Given the description of an element on the screen output the (x, y) to click on. 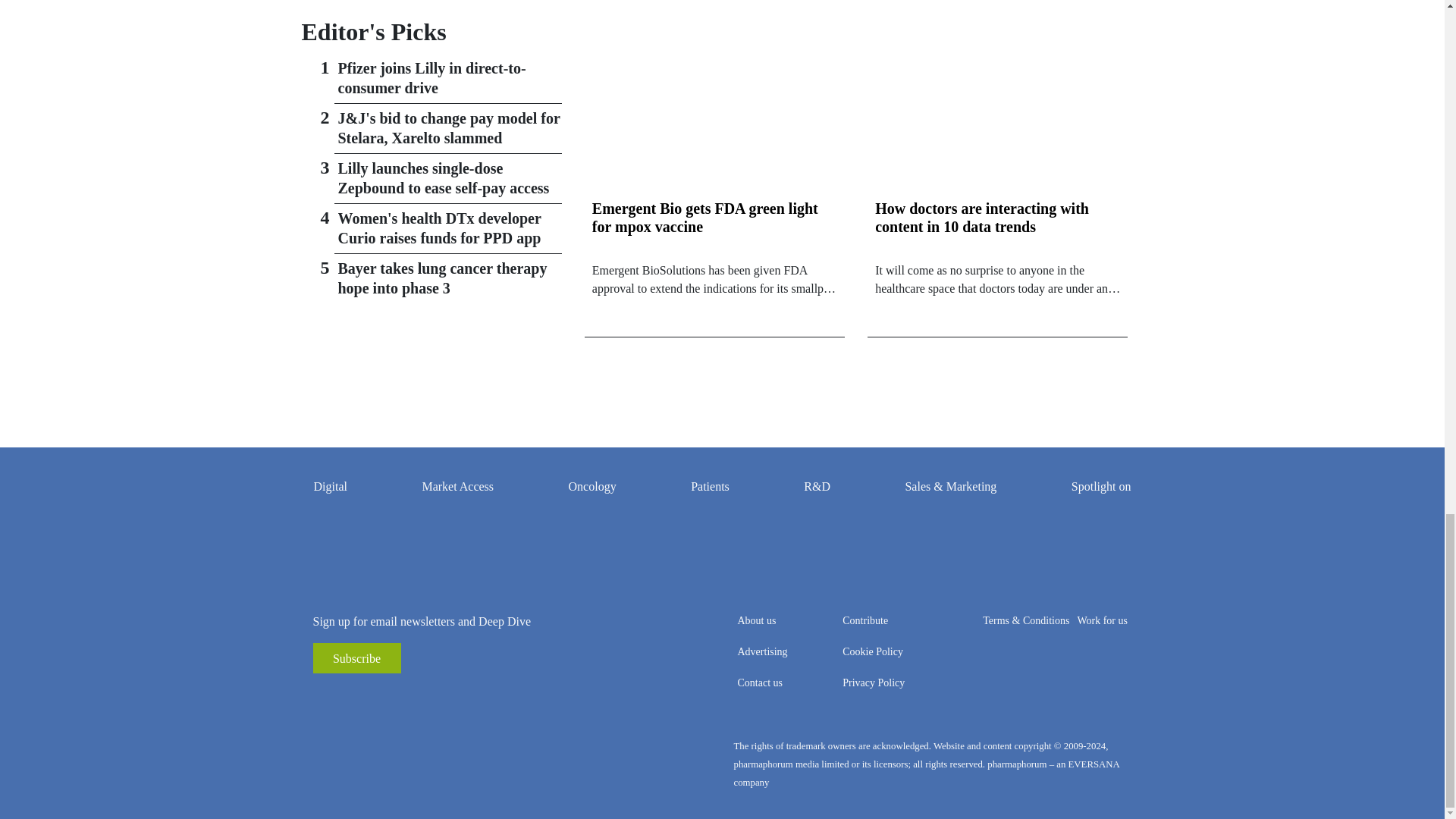
linkedin (369, 695)
Pharmaphorum (430, 763)
facebook (347, 695)
 rss (324, 695)
X (392, 695)
